Given the description of an element on the screen output the (x, y) to click on. 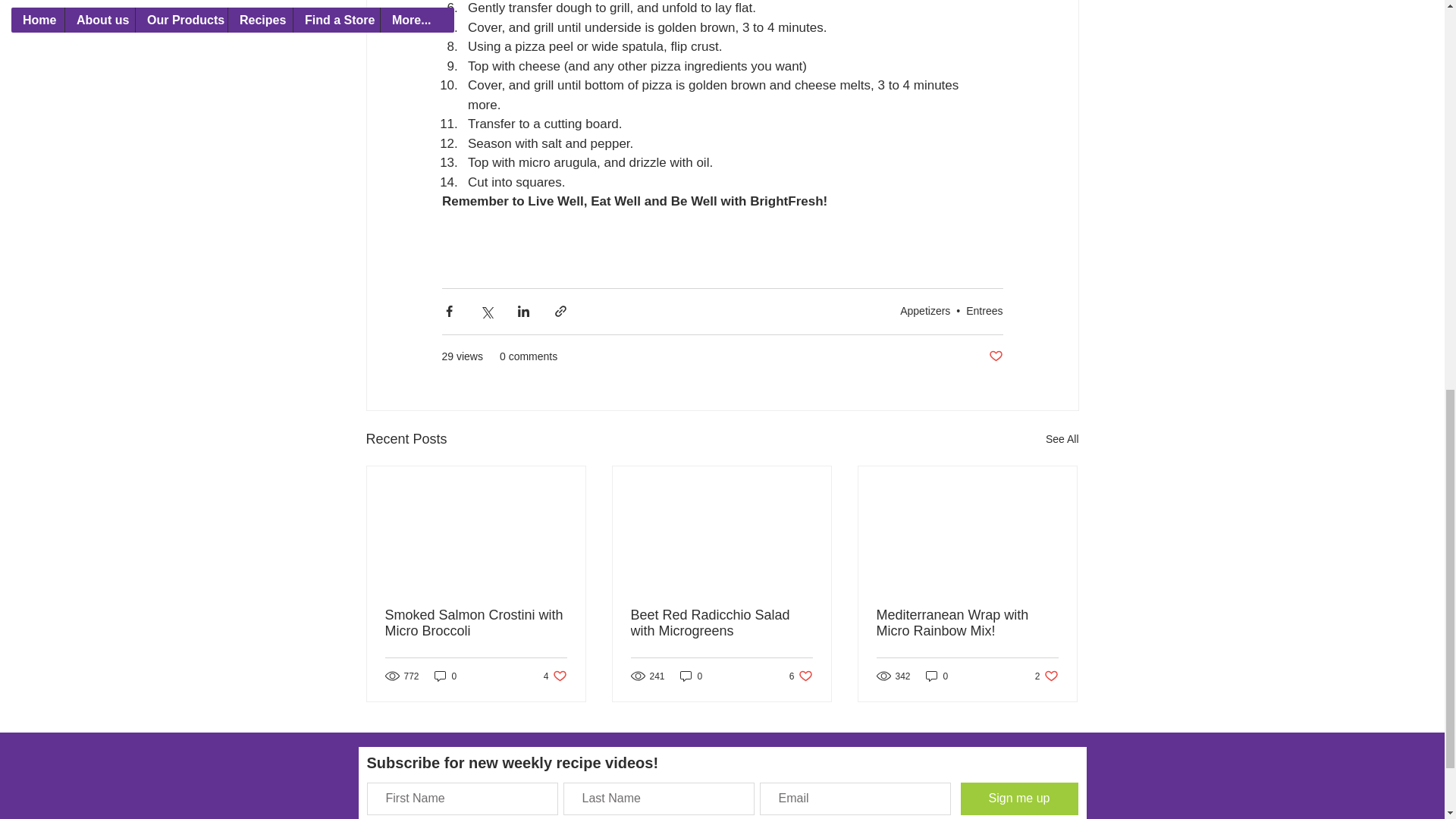
0 (445, 676)
Smoked Salmon Crostini with Micro Broccoli (800, 676)
Sign me up (476, 622)
See All (1018, 798)
0 (1061, 438)
0 (691, 676)
Appetizers (555, 676)
Post not marked as liked (937, 676)
Beet Red Radicchio Salad with Microgreens (924, 310)
Mediterranean Wrap with Micro Rainbow Mix! (995, 356)
Entrees (721, 622)
